Given the description of an element on the screen output the (x, y) to click on. 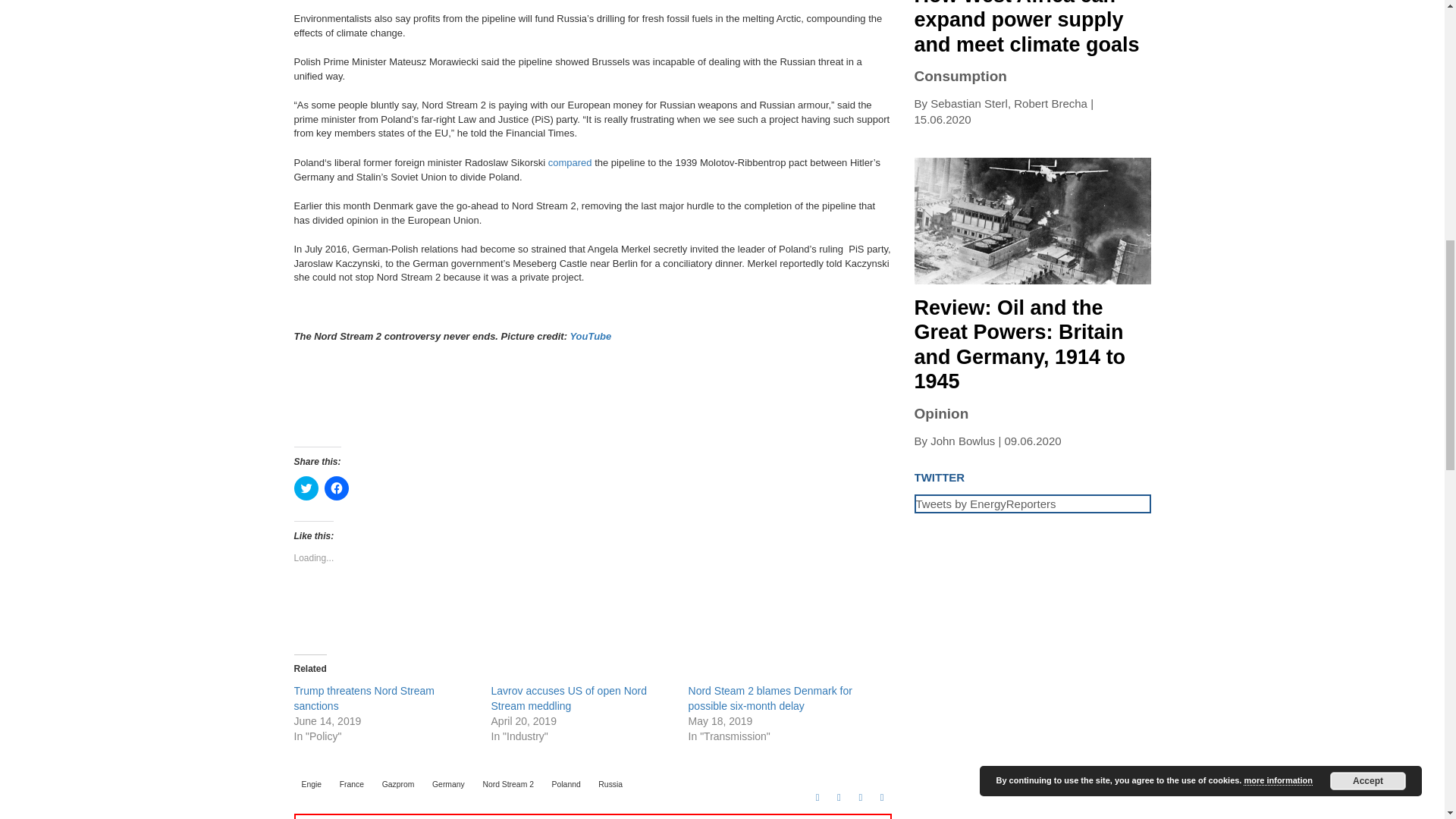
Click to share on Twitter (306, 487)
Nord Steam 2 blames Denmark for possible six-month delay (769, 697)
Click to share on Facebook (336, 487)
Like or Reblog (592, 613)
compared (570, 162)
YouTube (590, 336)
